Given the description of an element on the screen output the (x, y) to click on. 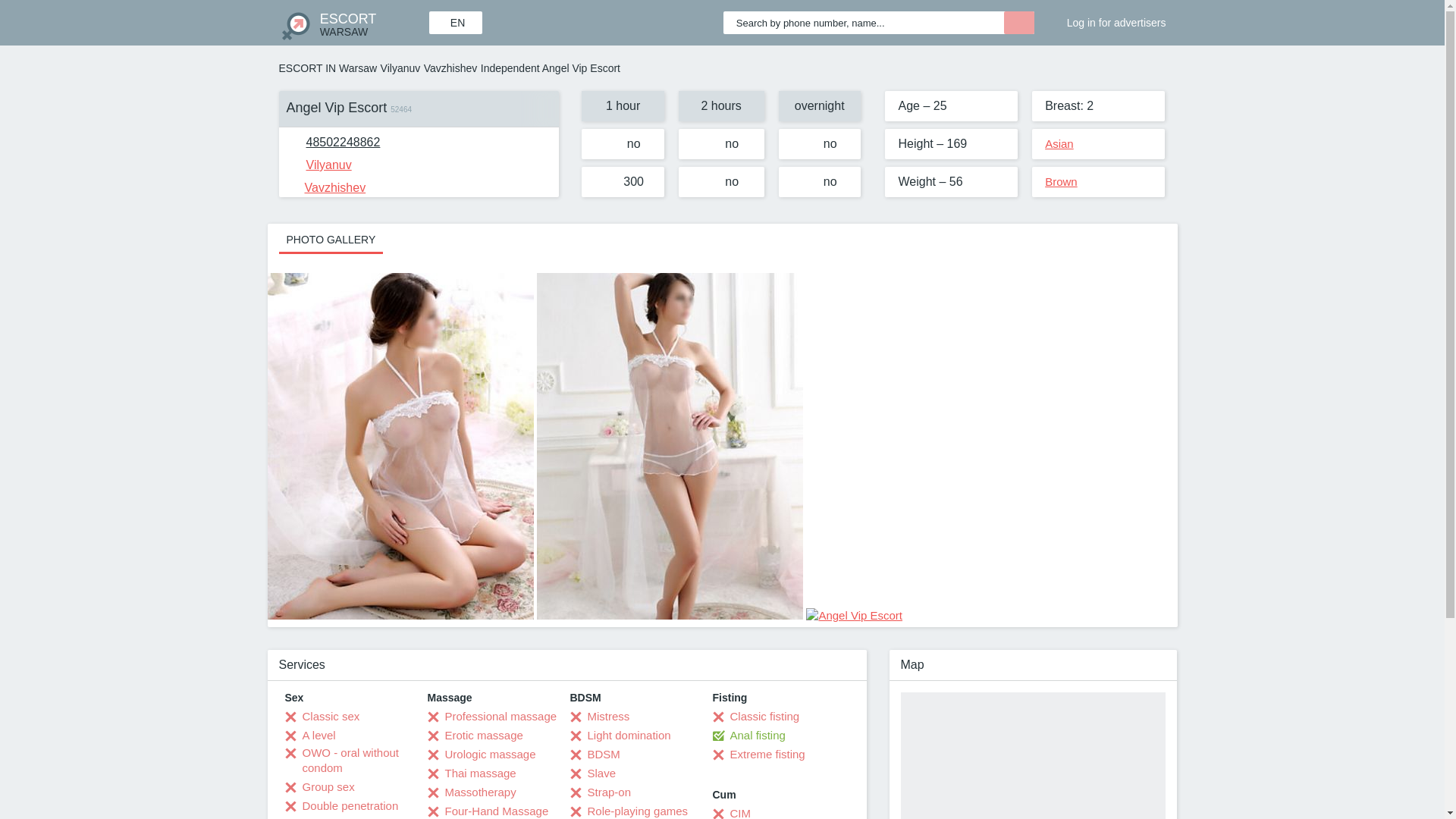
Vavzhishev (326, 187)
PHOTO GALLERY (331, 238)
Vavzhishev (450, 68)
48502248862 (342, 141)
Brown (1061, 181)
ESCORT IN Warsaw (328, 68)
Thai massage (472, 773)
Erotic massage (475, 735)
Classic sex (322, 716)
Vilyanuv (319, 164)
